Given the description of an element on the screen output the (x, y) to click on. 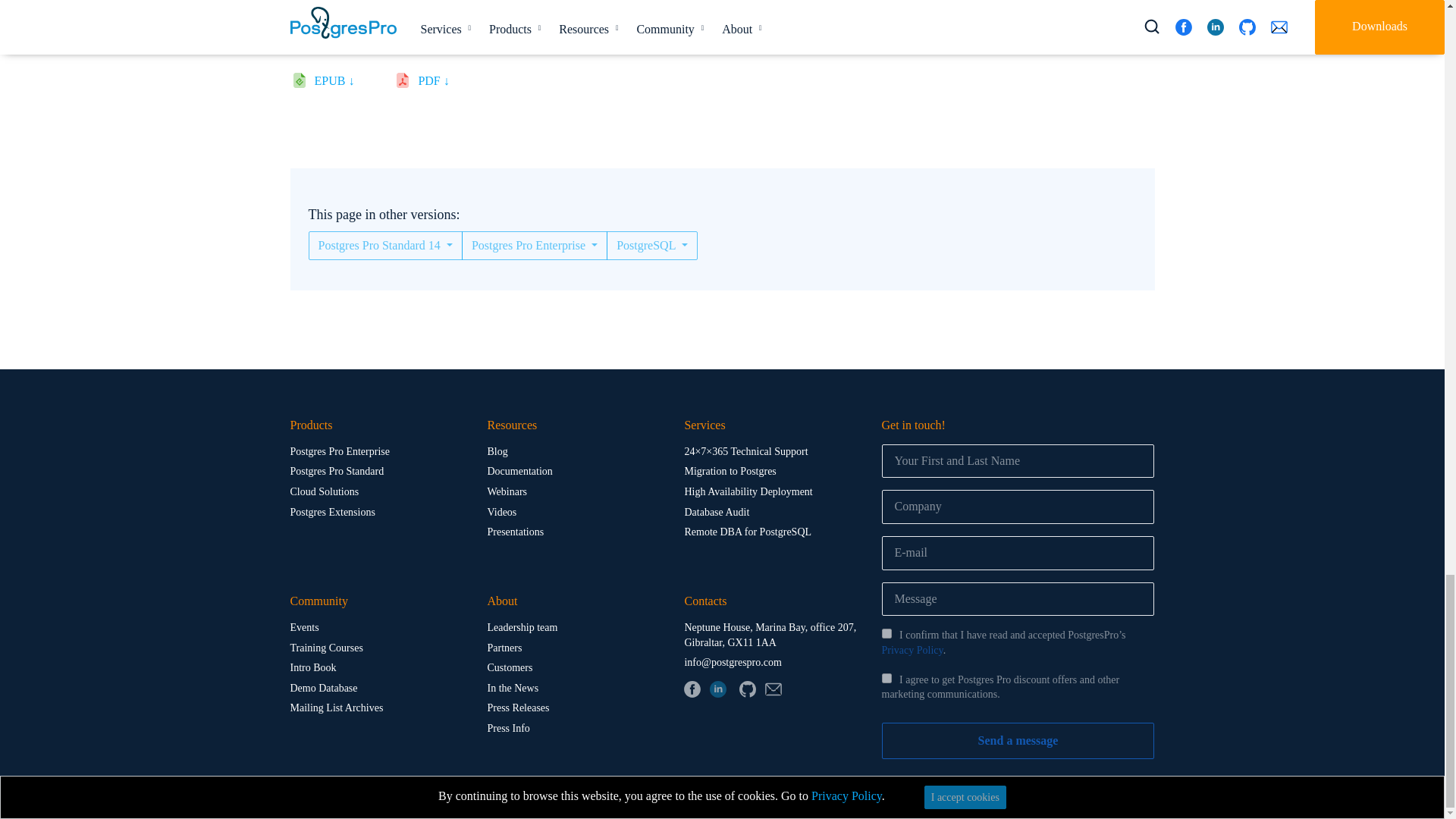
Facebook (692, 688)
on (885, 678)
epub (339, 83)
Postgres Pro Standard 14.12.2 Documentation (733, 39)
on (885, 633)
pdf (438, 83)
Send a message (1017, 740)
